Given the description of an element on the screen output the (x, y) to click on. 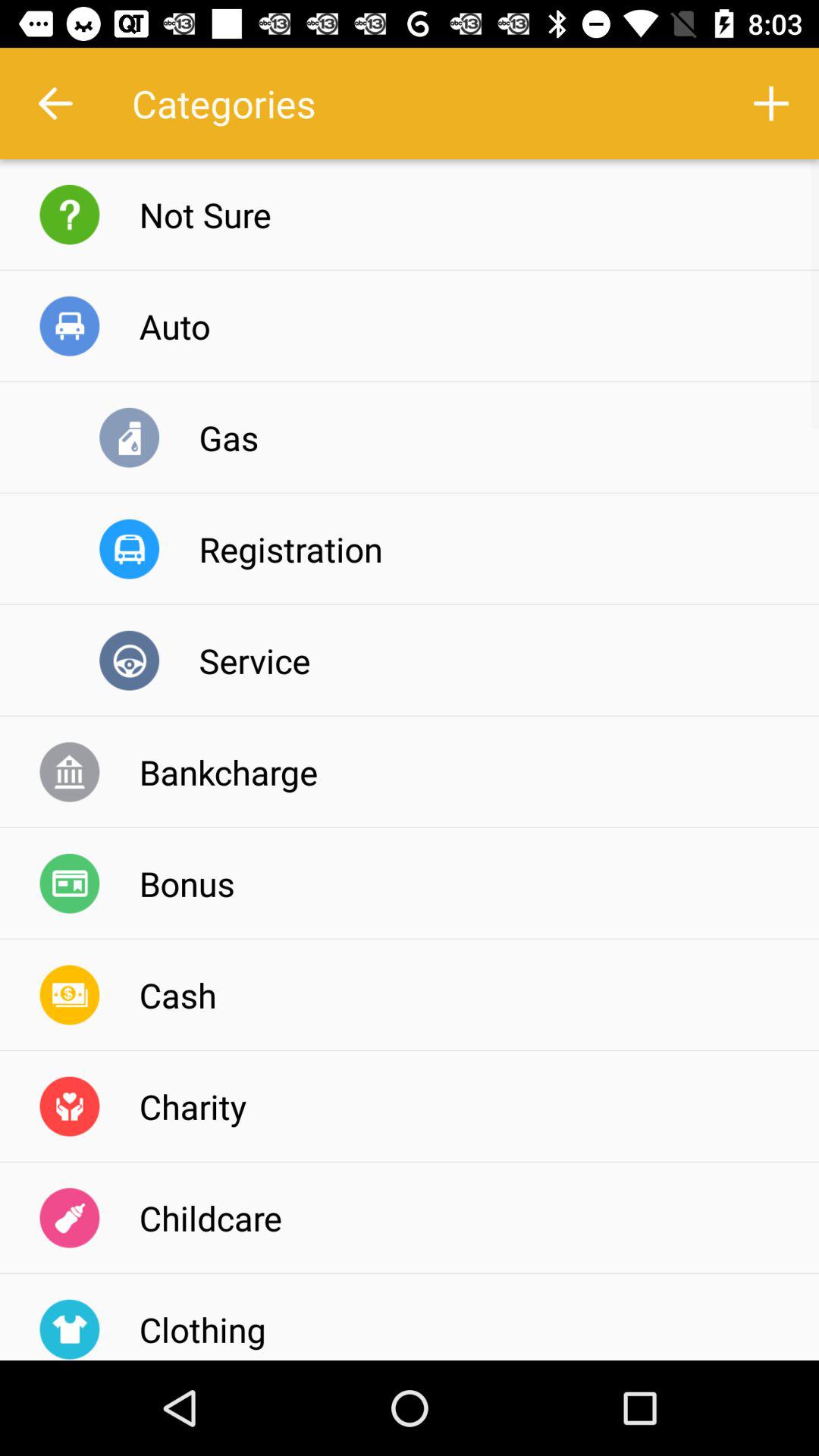
launch item to the right of categories app (771, 103)
